Given the description of an element on the screen output the (x, y) to click on. 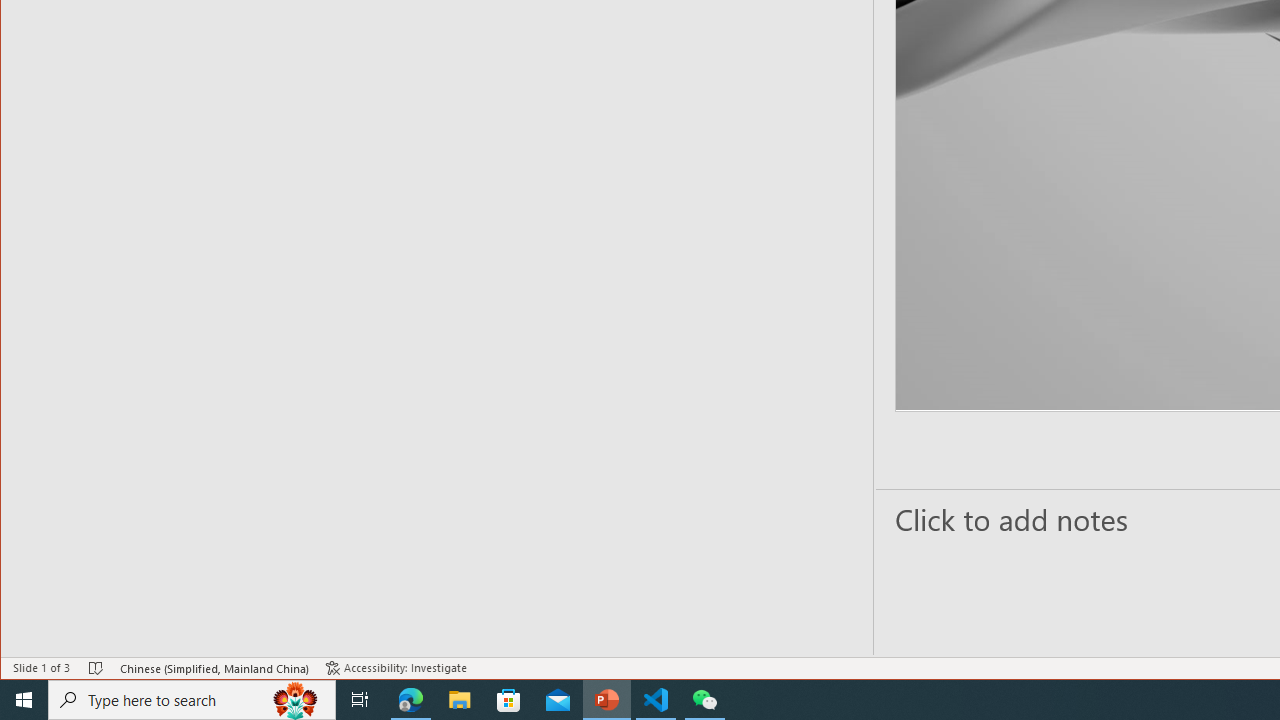
Microsoft Edge - 1 running window (411, 699)
WeChat - 1 running window (704, 699)
